Given the description of an element on the screen output the (x, y) to click on. 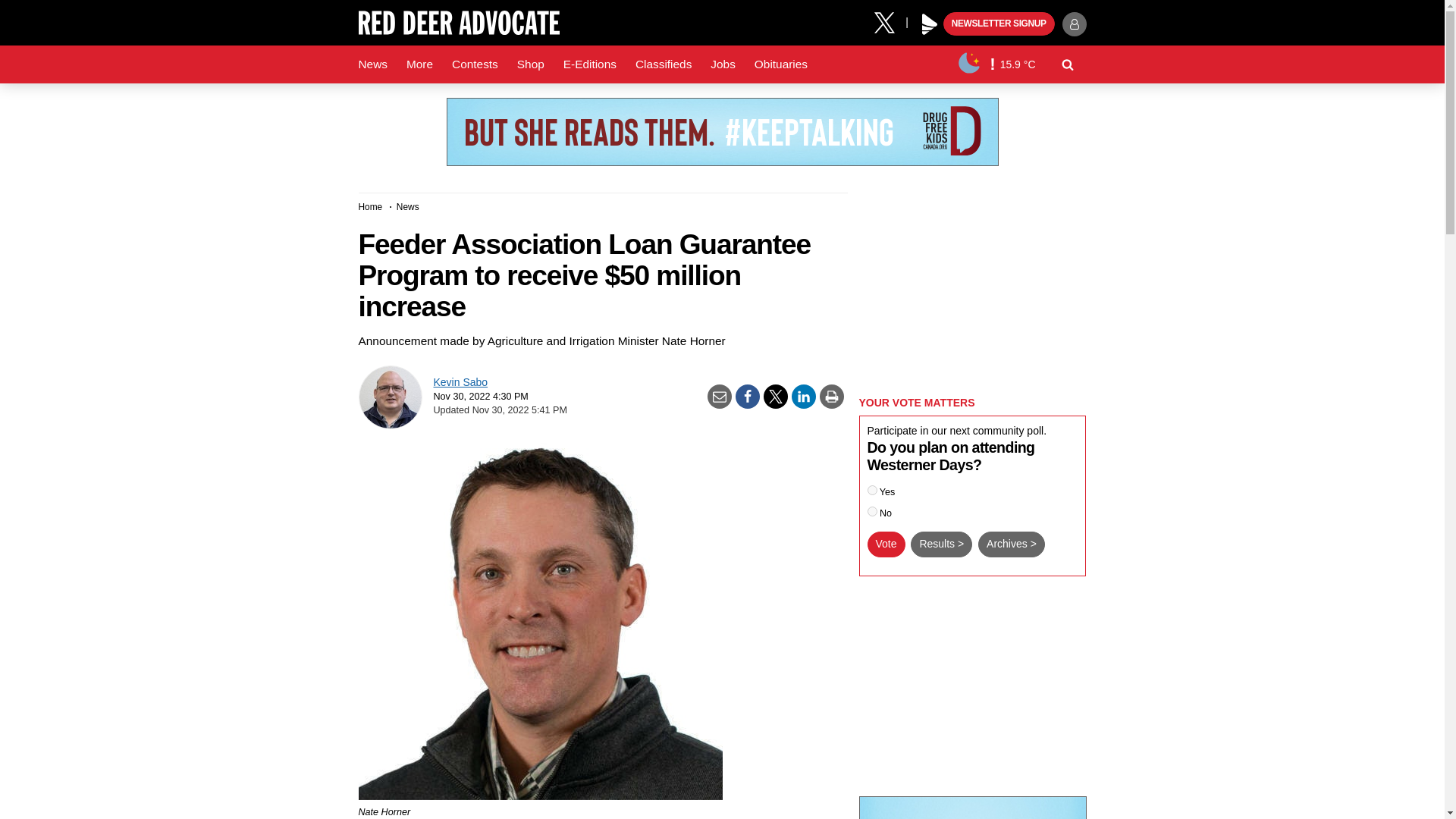
News (372, 64)
3rd party ad content (721, 131)
237 (872, 511)
X (889, 21)
236 (872, 490)
NEWSLETTER SIGNUP (998, 24)
Play (929, 24)
3rd party ad content (972, 807)
Black Press Media (929, 24)
3rd party ad content (972, 287)
